Given the description of an element on the screen output the (x, y) to click on. 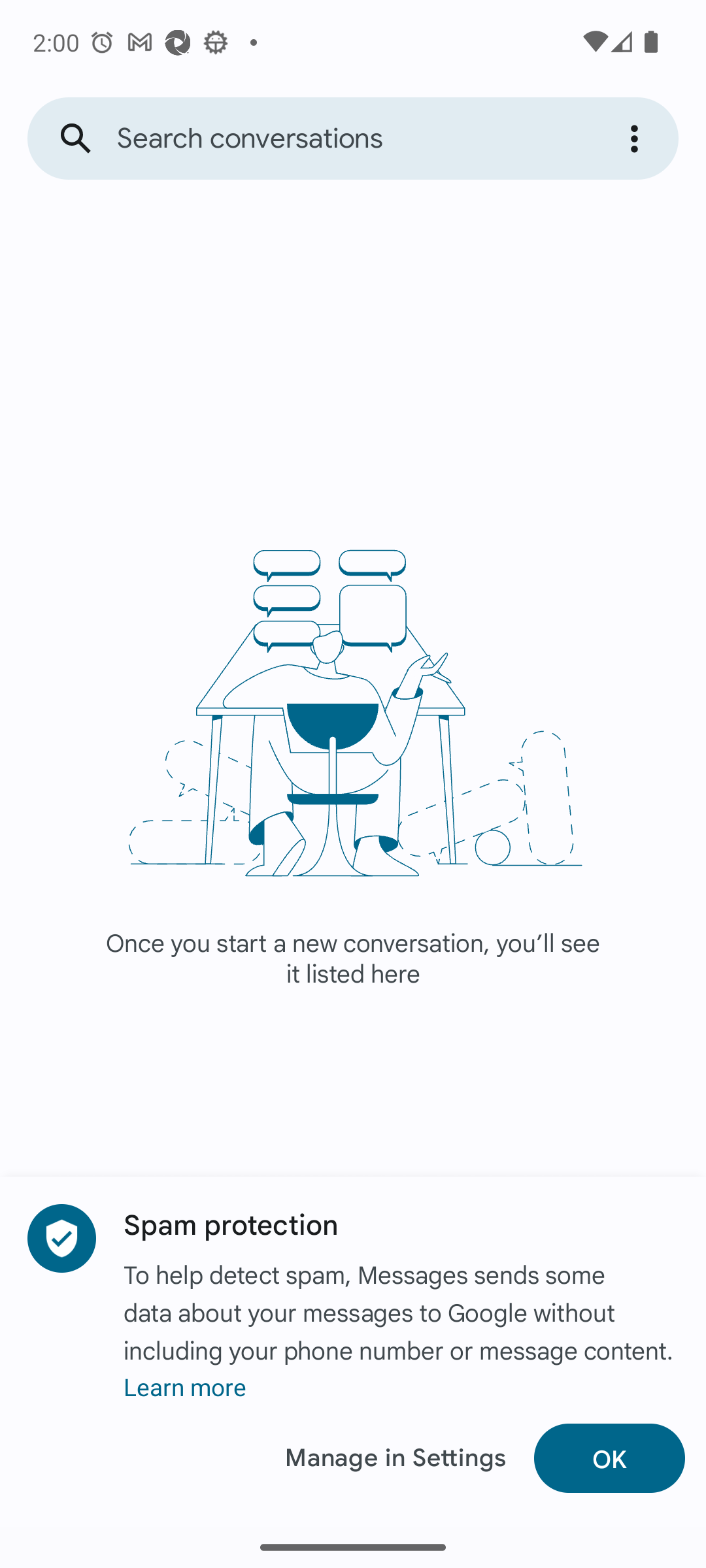
Navigate up (75, 138)
More options (636, 138)
Manage in Settings (395, 1458)
OK (608, 1458)
